Given the description of an element on the screen output the (x, y) to click on. 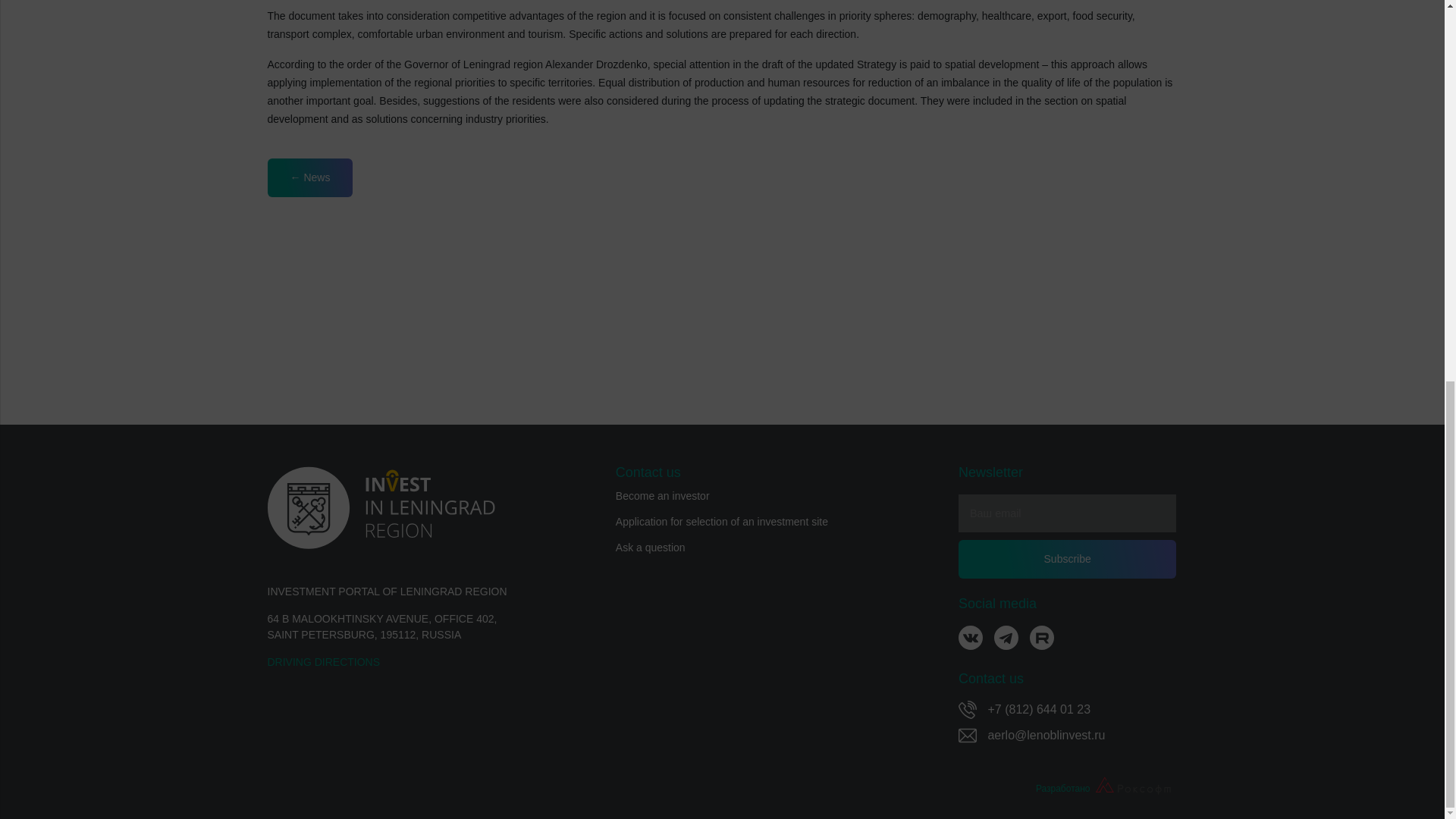
Telegram (1005, 644)
Rutube (1041, 637)
